Given the description of an element on the screen output the (x, y) to click on. 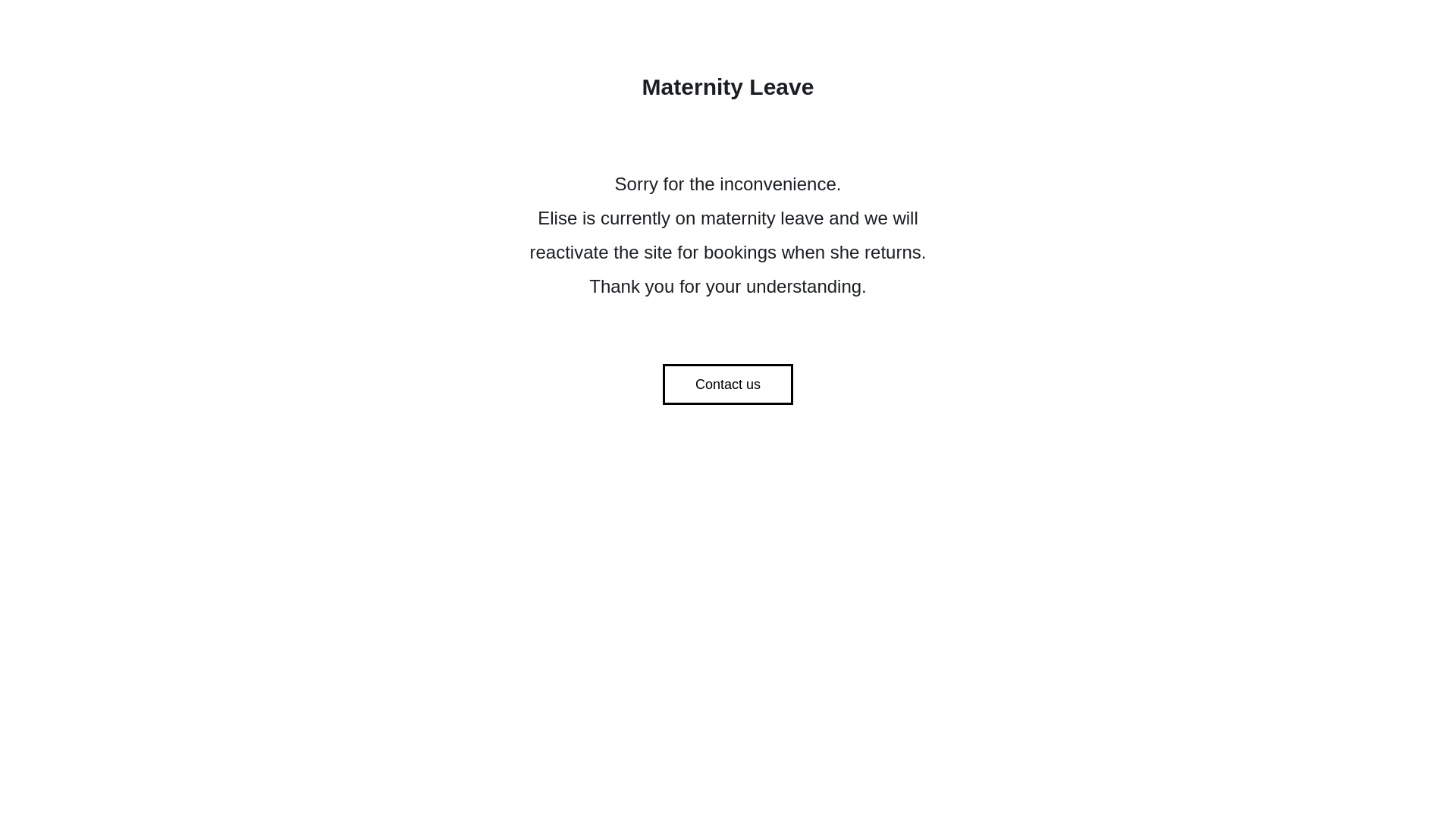
Contact us Element type: text (727, 384)
